Given the description of an element on the screen output the (x, y) to click on. 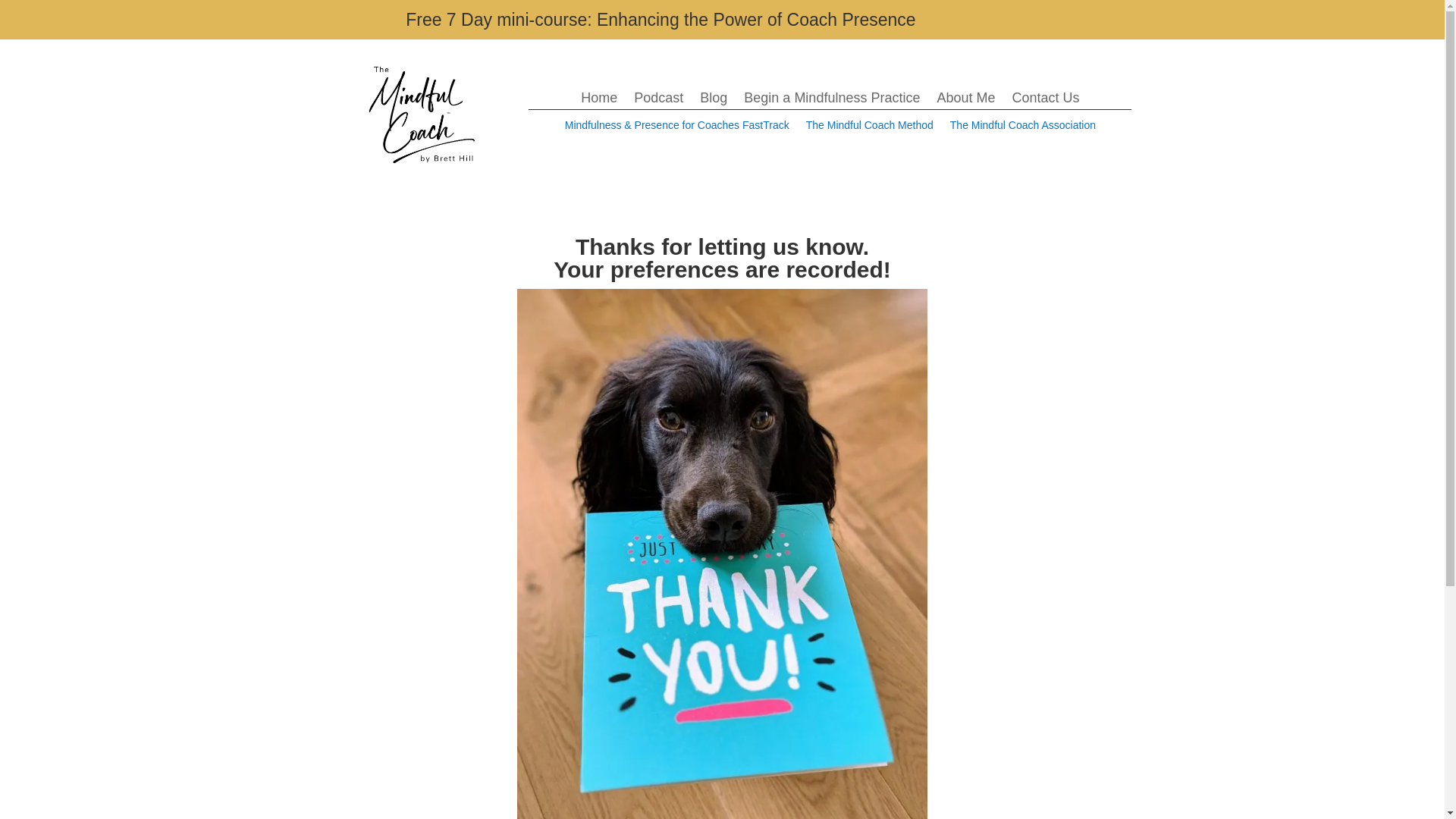
About Me (965, 100)
Contact Us (1044, 100)
The Mindful Coach Association (1023, 127)
Podcast (657, 100)
Begin a Mindfulness Practice (832, 100)
Home (598, 100)
The Mindful Coach Method (869, 127)
The Mindful Coach- TM (422, 114)
Blog (713, 100)
